Given the description of an element on the screen output the (x, y) to click on. 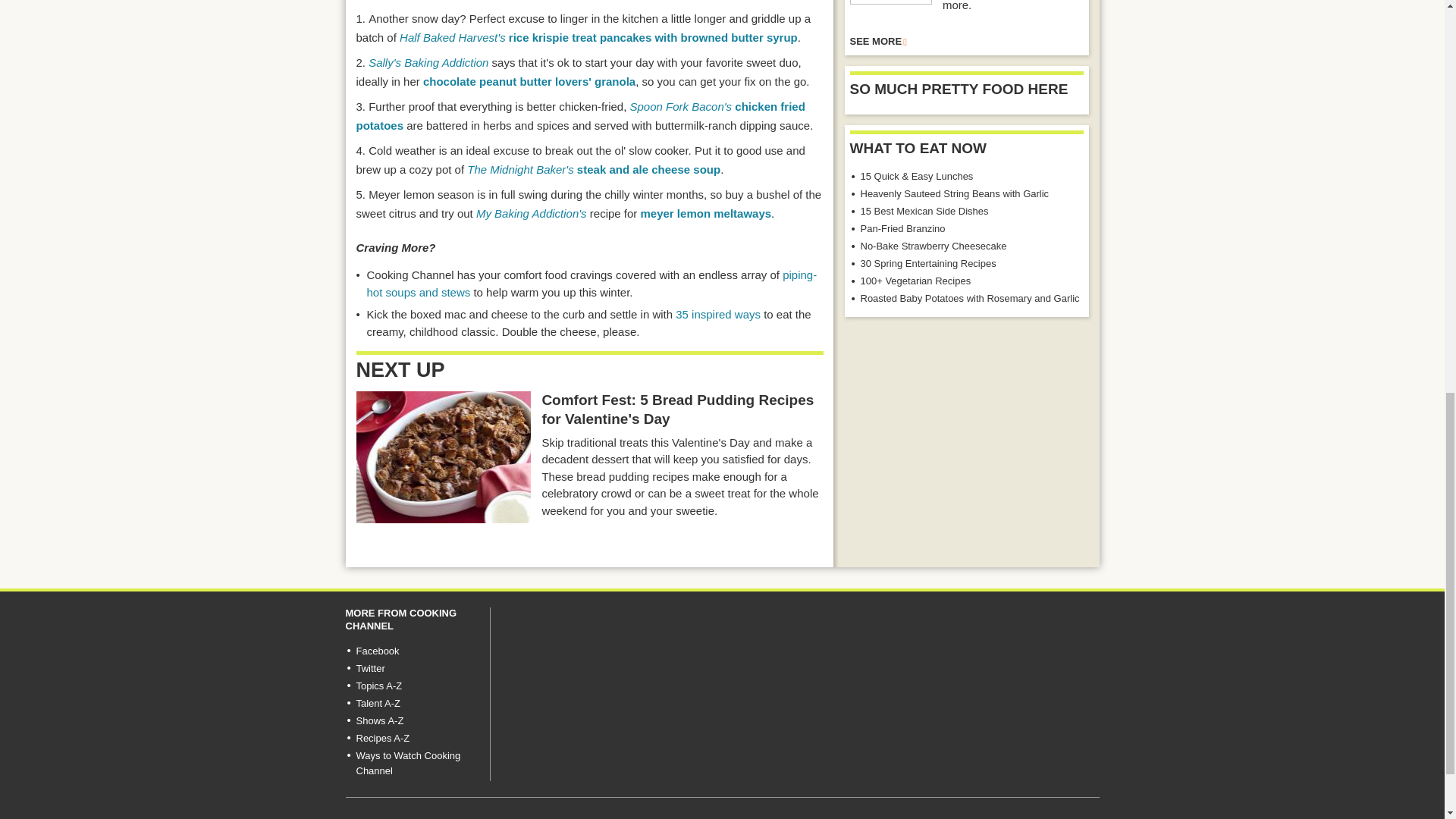
chocolate peanut butter lovers' granola (528, 81)
Half Baked Harvest's (451, 37)
chicken fried potatoes (580, 115)
Sally's Baking Addiction (427, 62)
rice krispie treat pancakes with browned butter syrup (652, 37)
Comfort Fest: 5 Bread Pudding Recipes for Valentine's Day (443, 457)
Spoon Fork Bacon's (681, 106)
